Given the description of an element on the screen output the (x, y) to click on. 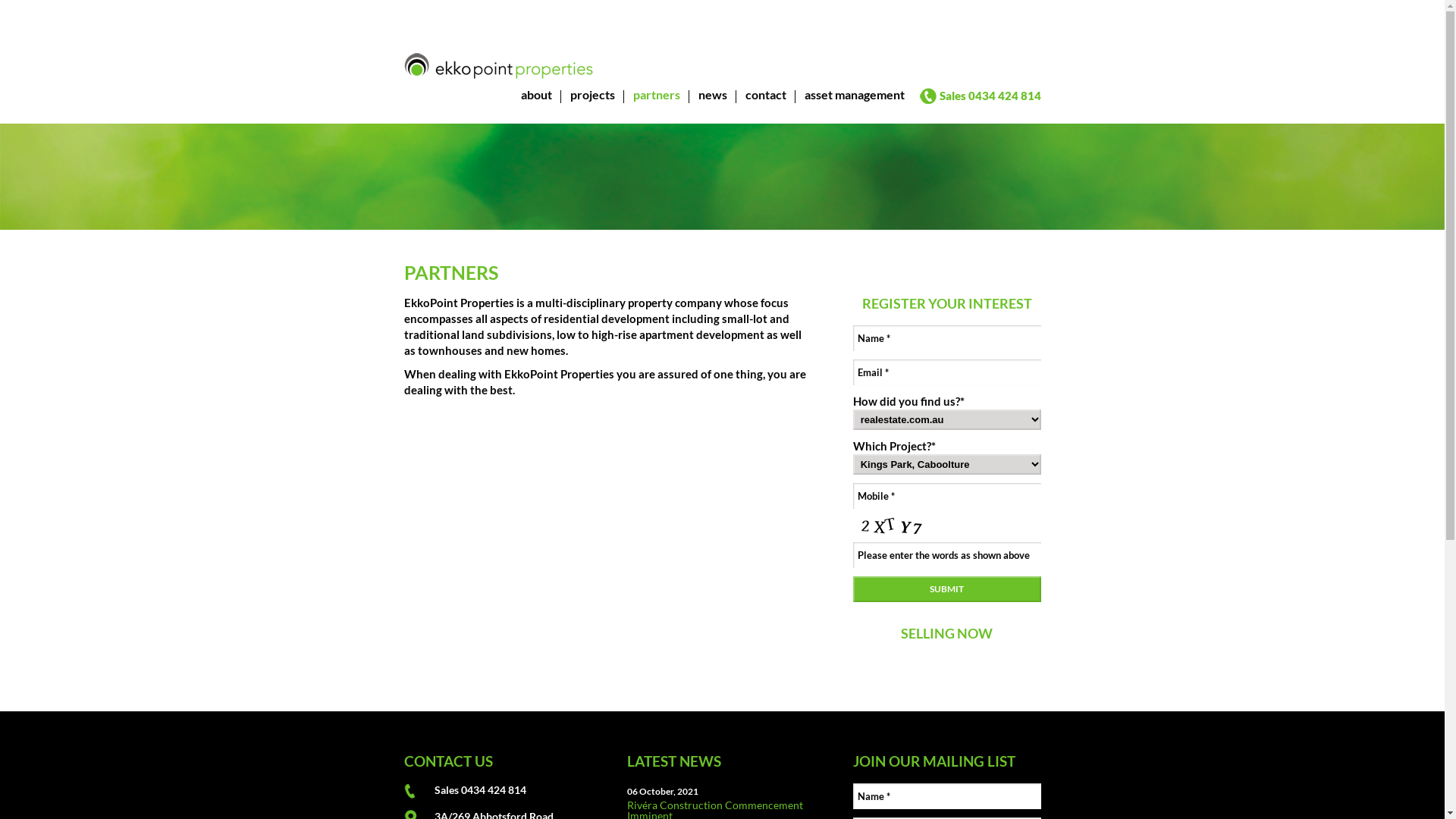
Sales 0434 424 814 Element type: text (989, 95)
about Element type: text (535, 105)
asset management Element type: text (853, 105)
news Element type: text (711, 105)
projects Element type: text (592, 105)
contact Element type: text (764, 105)
Sales 0434 424 814 Element type: text (479, 789)
EkkoPoint Properties Element type: text (497, 65)
partners Element type: text (655, 105)
Submit Element type: text (947, 589)
